Given the description of an element on the screen output the (x, y) to click on. 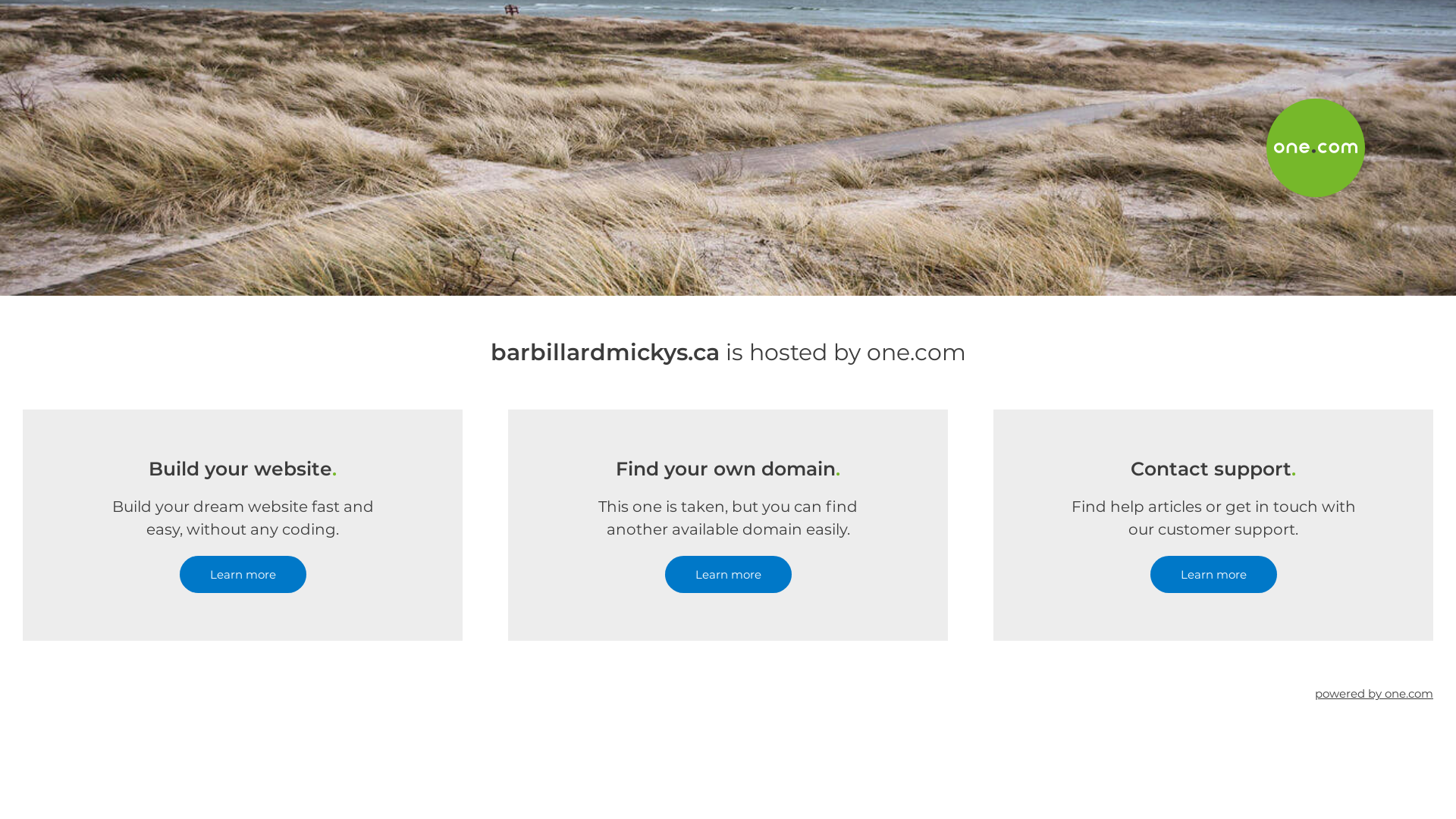
powered by one.com Element type: text (1373, 693)
Learn more Element type: text (241, 574)
Learn more Element type: text (727, 574)
Learn more Element type: text (1212, 574)
